Given the description of an element on the screen output the (x, y) to click on. 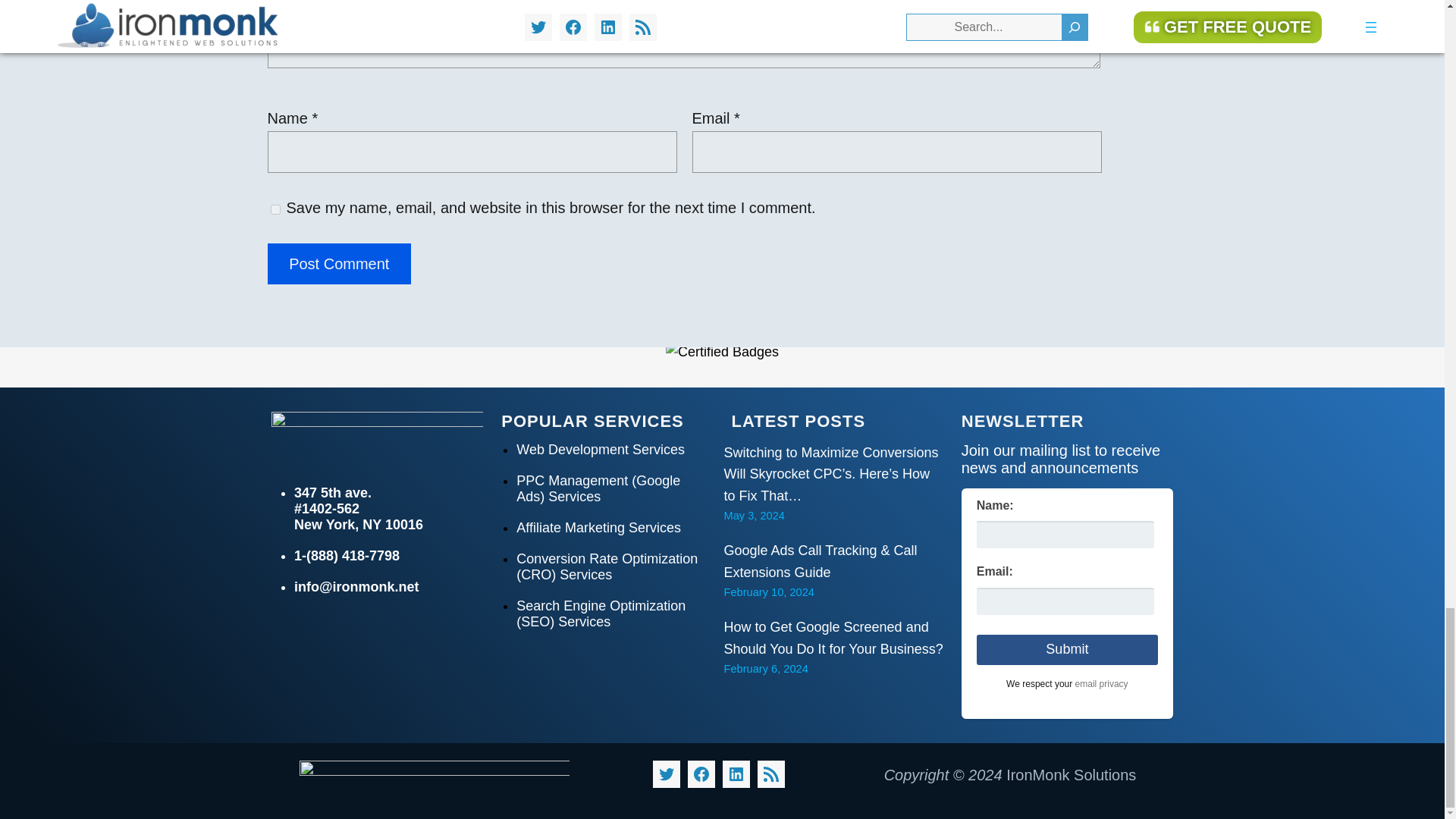
yes (274, 209)
Submit (1066, 649)
Privacy Policy (1101, 683)
Post Comment (338, 263)
